Given the description of an element on the screen output the (x, y) to click on. 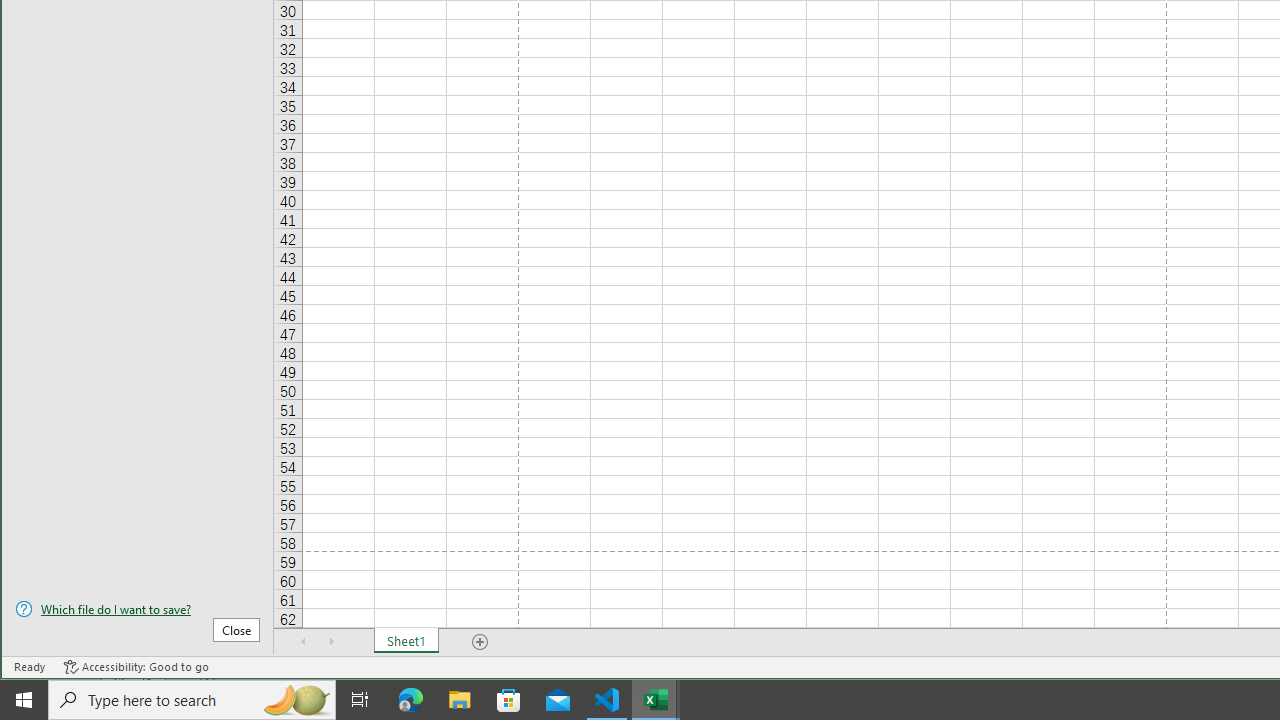
Visual Studio Code - 1 running window (607, 699)
File Explorer (460, 699)
Search highlights icon opens search home window (295, 699)
Microsoft Store (509, 699)
Microsoft Edge (411, 699)
Excel - 2 running windows (656, 699)
Task View (359, 699)
Type here to search (191, 699)
